Given the description of an element on the screen output the (x, y) to click on. 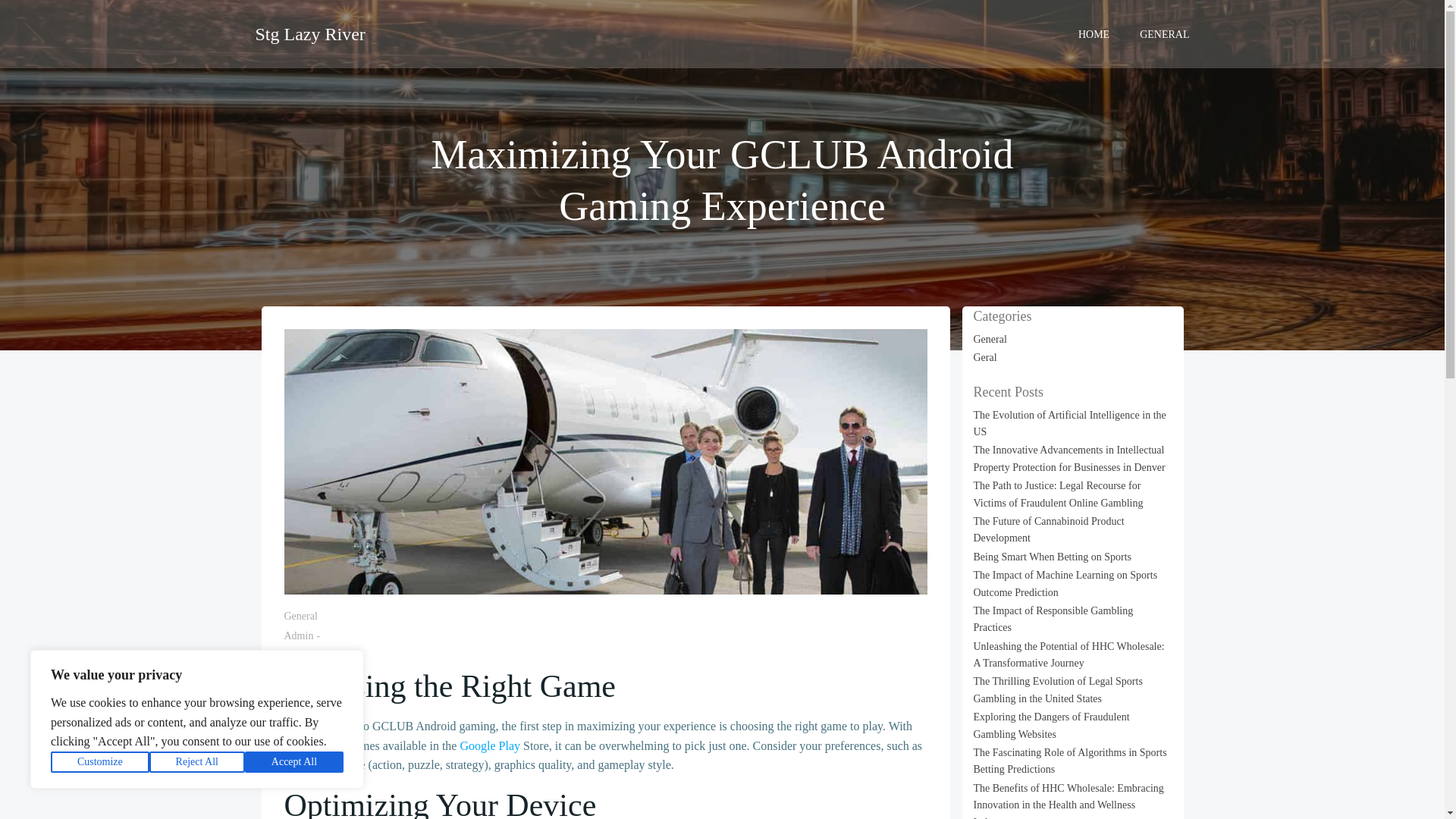
General (300, 616)
Stg Lazy River (309, 33)
Geral (985, 357)
Google Play (489, 745)
Reject All (196, 762)
HOME (1093, 33)
GENERAL (1164, 33)
General (990, 338)
The Future of Cannabinoid Product Development (1049, 529)
Accept All (293, 762)
Being Smart When Betting on Sports (1053, 556)
The Impact of Machine Learning on Sports Outcome Prediction (1065, 583)
Admin (298, 635)
